Given the description of an element on the screen output the (x, y) to click on. 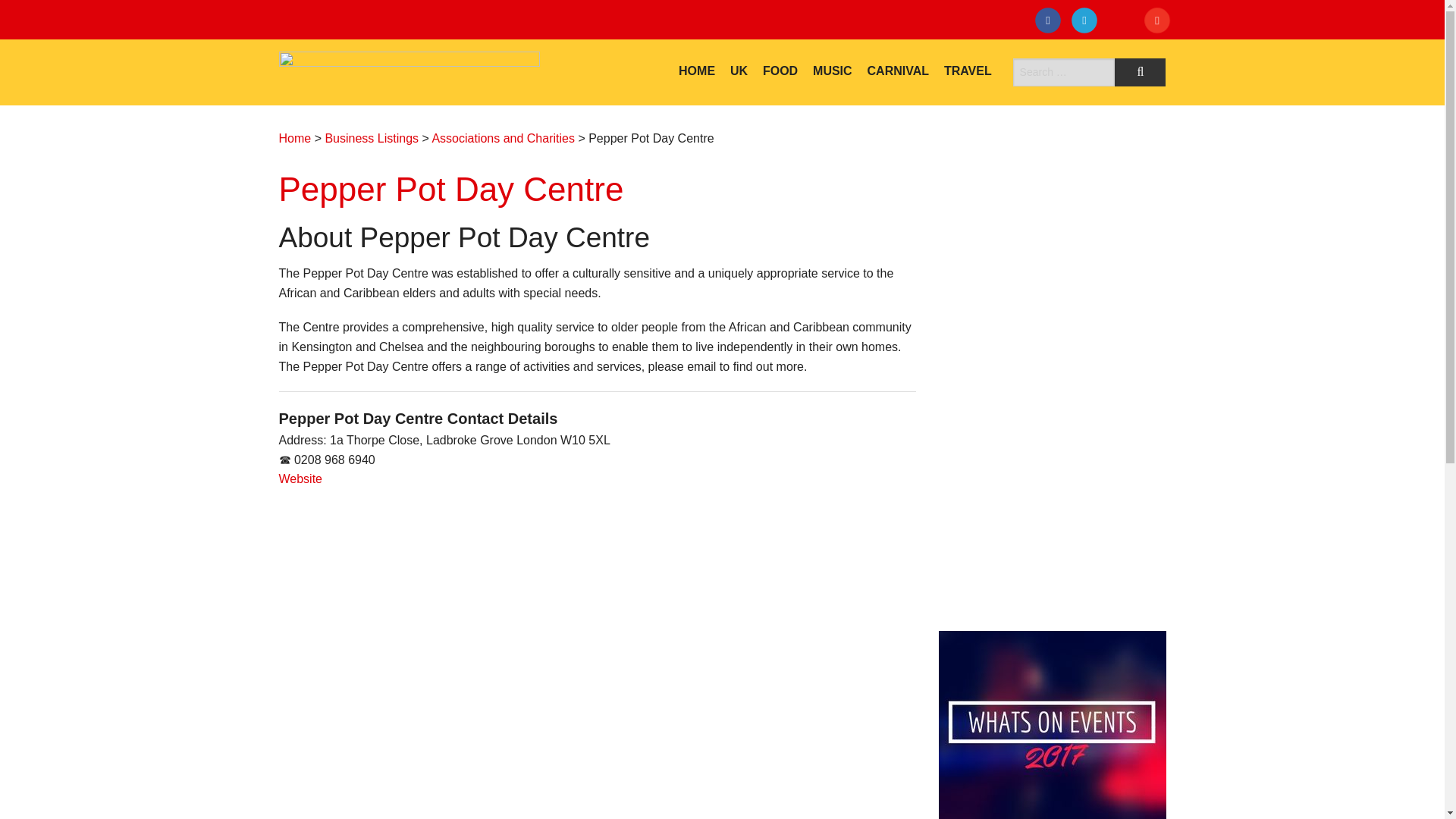
Search (1140, 72)
CARNIVAL (897, 70)
Pepperpot Centre (301, 478)
Search for: (1064, 72)
Pinterest (1160, 23)
Twitter (1087, 23)
Business Listings (371, 137)
Associations and Charities (502, 137)
Facebook (1051, 23)
Instagram (1124, 23)
